Given the description of an element on the screen output the (x, y) to click on. 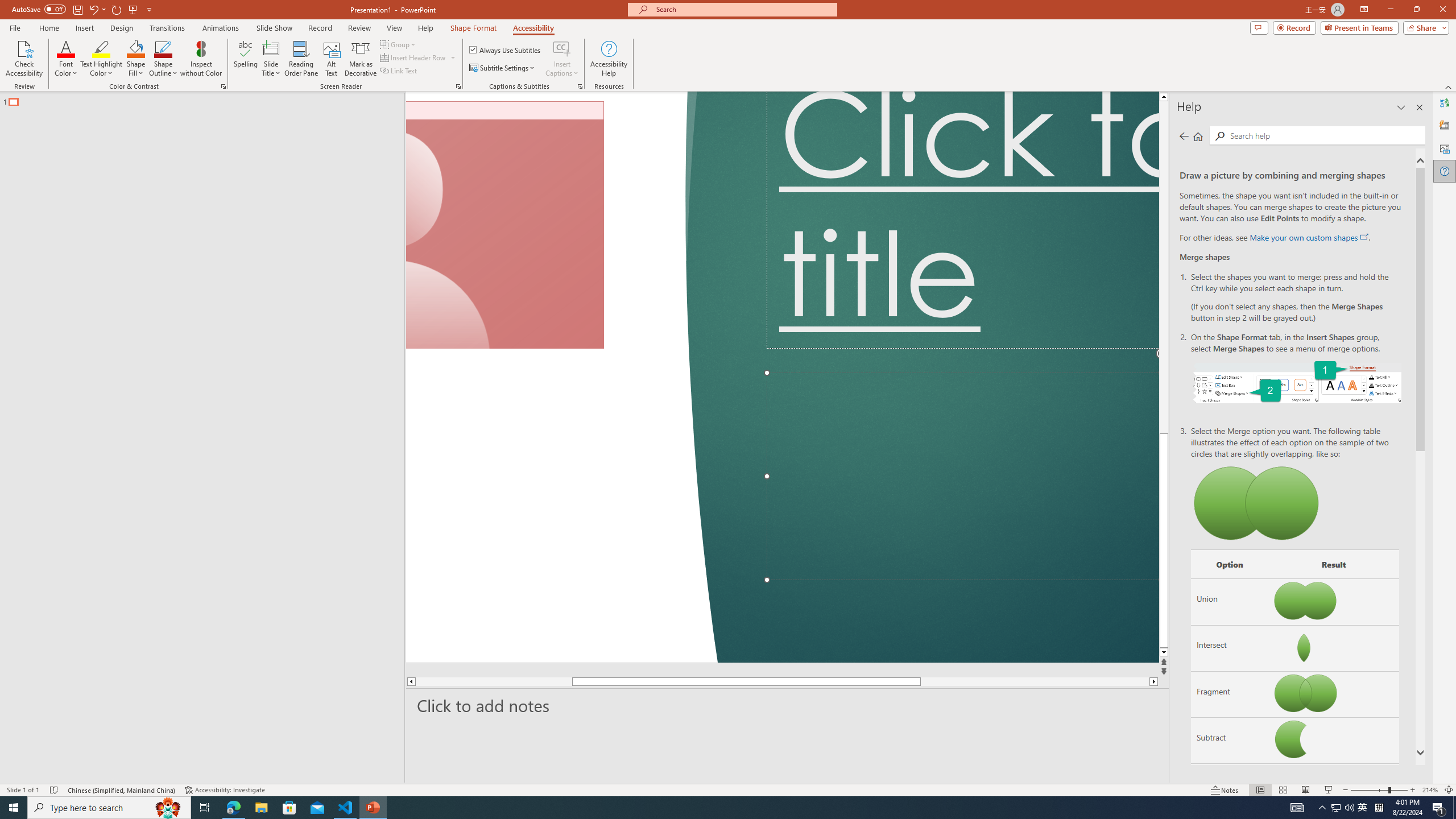
Captions & Subtitles (580, 85)
On the Shape Format tab, select Merge Shapes. (1296, 381)
Intersect (1229, 647)
